Given the description of an element on the screen output the (x, y) to click on. 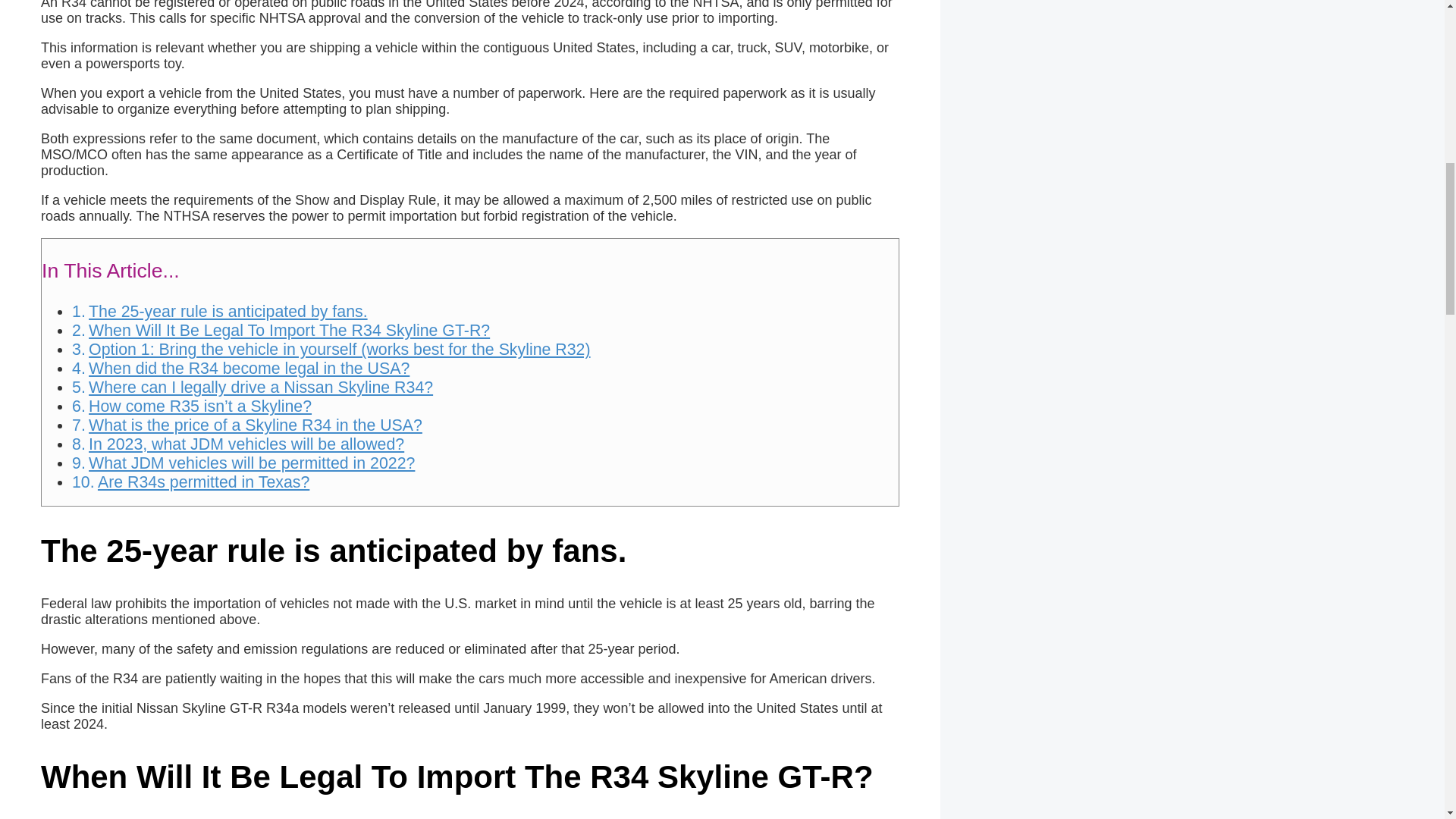
When did the R34 become legal in the USA? (248, 368)
When Will It Be Legal To Import The R34 Skyline GT-R? (288, 330)
When Will It Be Legal To Import The R34 Skyline GT-R? (288, 330)
In 2023, what JDM vehicles will be allowed? (246, 443)
What JDM vehicles will be permitted in 2022? (251, 463)
In 2023, what JDM vehicles will be allowed? (246, 443)
Are R34s permitted in Texas? (202, 482)
Where can I legally drive a Nissan Skyline R34? (260, 387)
Are R34s permitted in Texas? (202, 482)
What is the price of a Skyline R34 in the USA? (255, 425)
The 25-year rule is anticipated by fans. (228, 311)
What JDM vehicles will be permitted in 2022? (251, 463)
What is the price of a Skyline R34 in the USA? (255, 425)
The 25-year rule is anticipated by fans. (228, 311)
Where can I legally drive a Nissan Skyline R34? (260, 387)
